Given the description of an element on the screen output the (x, y) to click on. 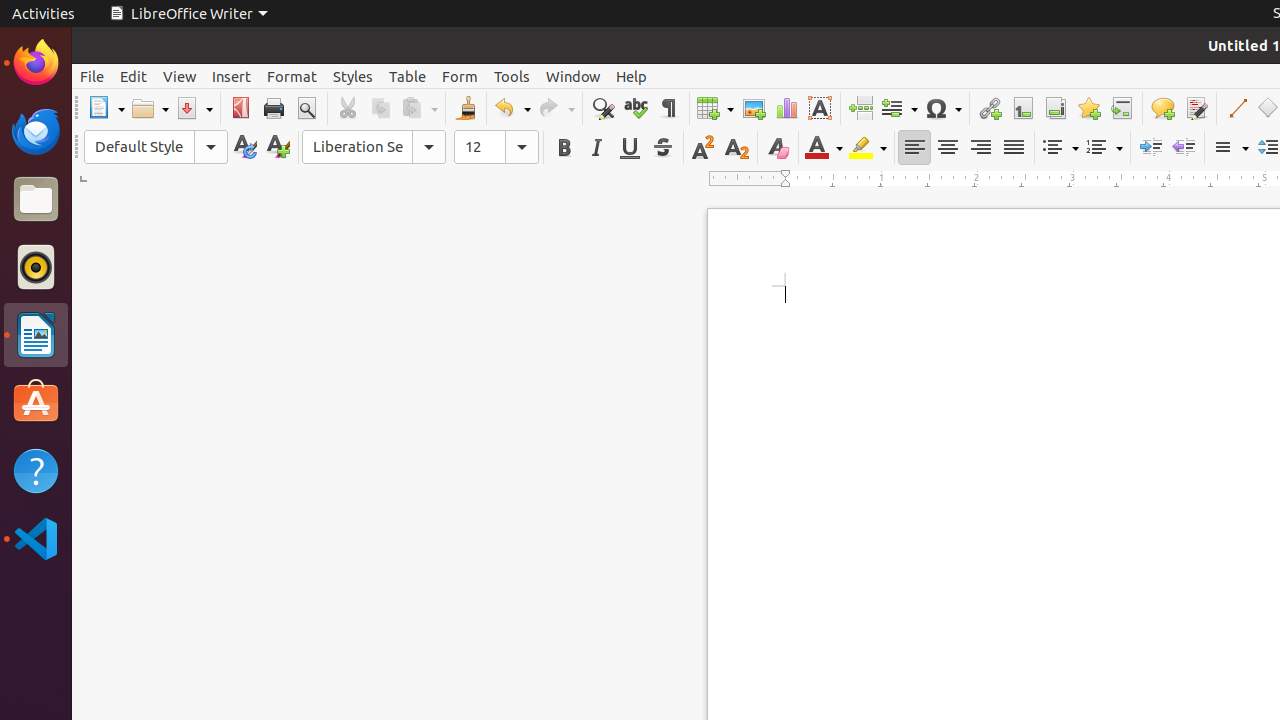
Font Color Element type: push-button (824, 147)
Save Element type: push-button (194, 108)
Image Element type: push-button (753, 108)
Help Element type: push-button (36, 470)
Cross-reference Element type: push-button (1121, 108)
